Given the description of an element on the screen output the (x, y) to click on. 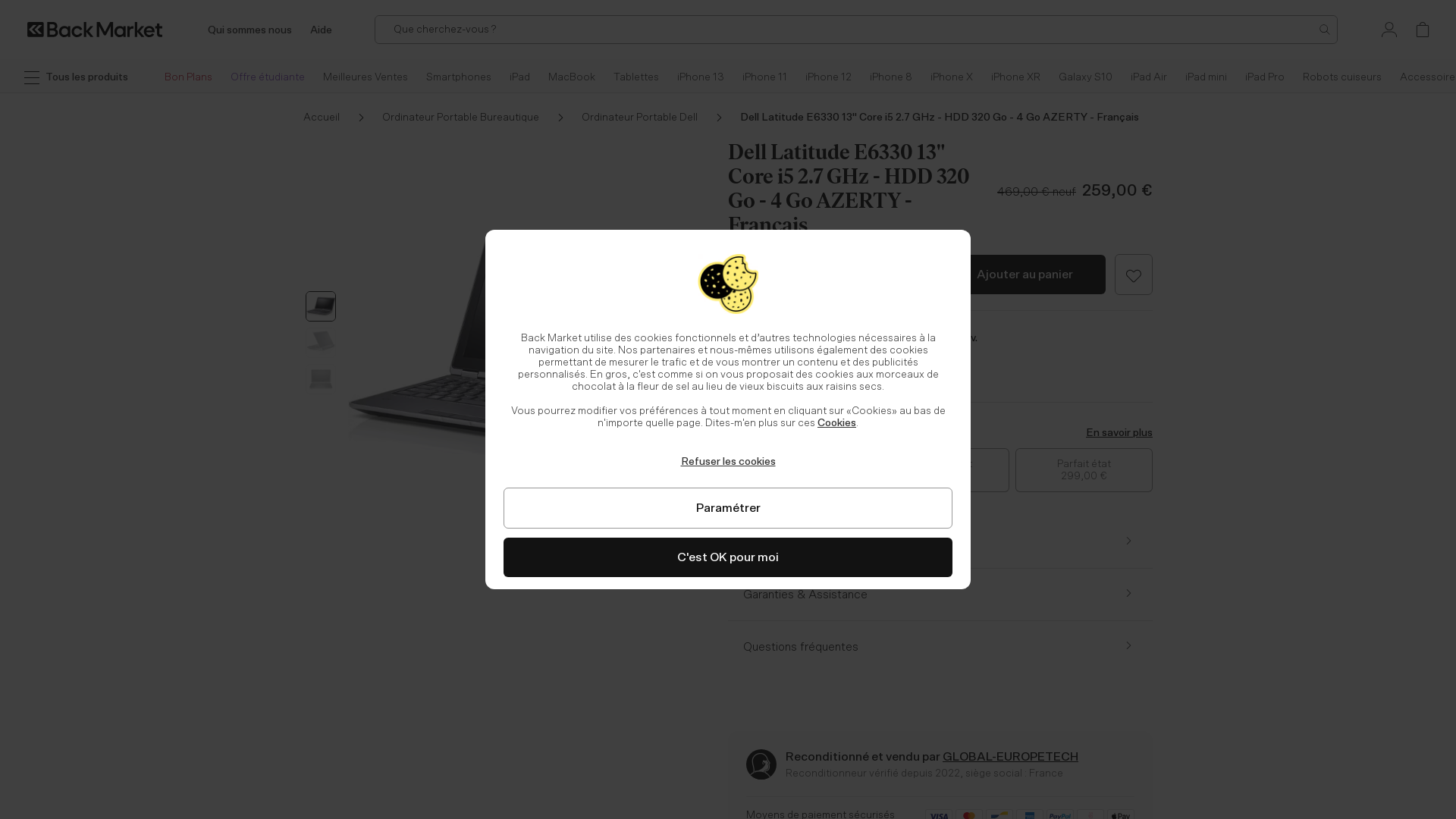
Galaxy S10 Element type: text (1085, 77)
Ajouter au panier Element type: text (1024, 274)
Garanties & Assistance Element type: text (940, 594)
iPhone X Element type: text (951, 77)
En savoir plus Element type: text (1118, 432)
Refuser les cookies Element type: text (727, 461)
Bon Plans Element type: text (188, 77)
Smartphones Element type: text (458, 77)
GLOBAL-EUROPETECH Element type: text (1010, 756)
Meilleures Ventes Element type: text (365, 77)
Aide Element type: text (321, 29)
Ordinateur Portable Dell Element type: text (660, 117)
iPhone 8 Element type: text (890, 77)
Cookies Element type: text (836, 422)
iPhone 12 Element type: text (828, 77)
iPad Element type: text (519, 77)
C'est OK pour moi Element type: text (727, 557)
iPad Air Element type: text (1148, 77)
Robots cuiseurs Element type: text (1341, 77)
MacBook Element type: text (571, 77)
Qui sommes nous Element type: text (249, 29)
Tous les produits Element type: text (76, 81)
iPhone 11 Element type: text (764, 77)
Ordinateur Portable Bureautique Element type: text (481, 117)
iPhone XR Element type: text (1015, 77)
iPad Pro Element type: text (1264, 77)
iPhone 13 Element type: text (700, 77)
Accueil Element type: text (342, 117)
Tablettes Element type: text (635, 77)
iPad mini Element type: text (1205, 77)
